Given the description of an element on the screen output the (x, y) to click on. 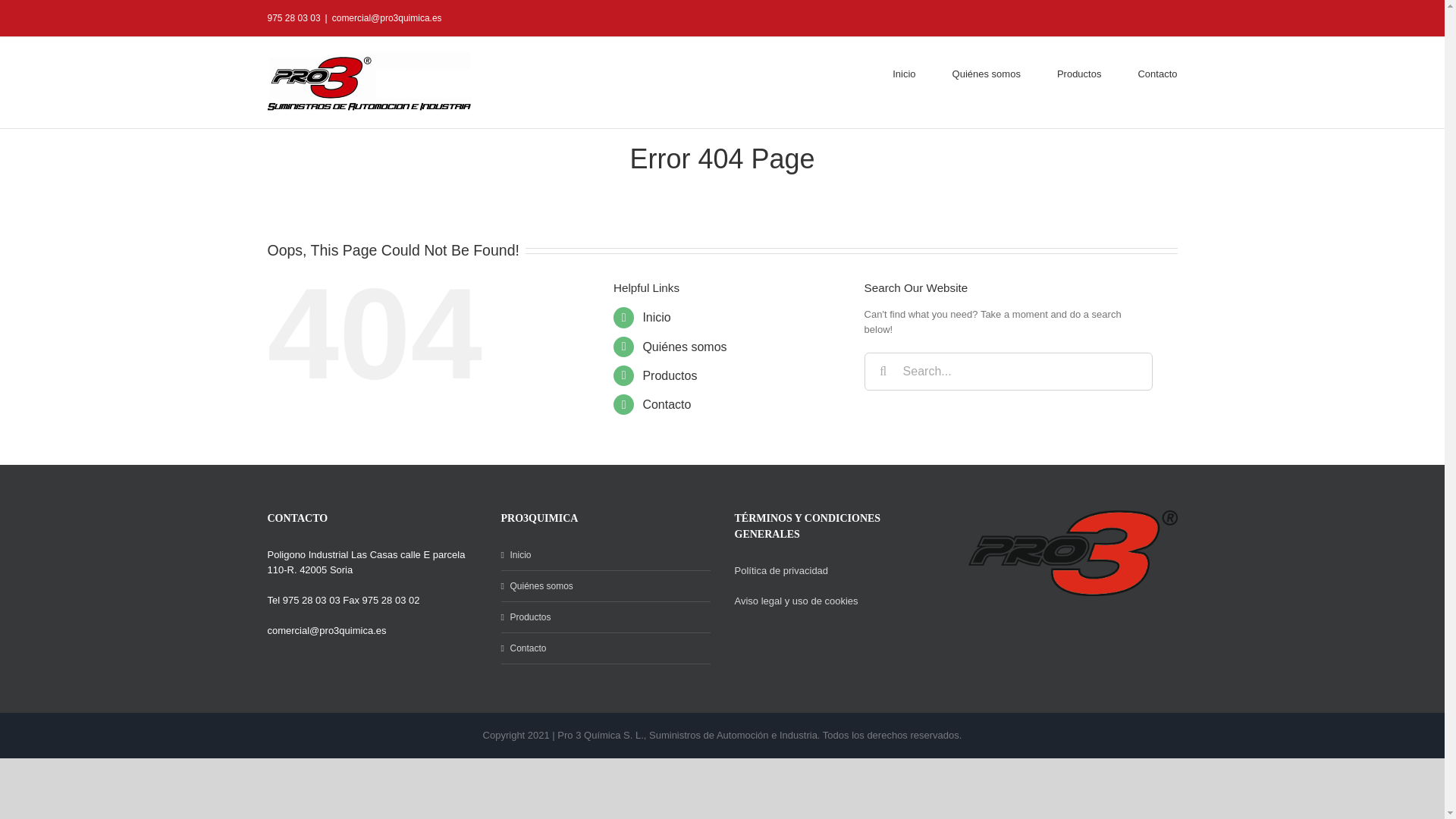
Contacto (666, 404)
Productos (605, 616)
Aviso legal y uso de cookies (795, 600)
Inicio (655, 317)
Contacto (605, 648)
Productos (669, 375)
Inicio (605, 554)
